Given the description of an element on the screen output the (x, y) to click on. 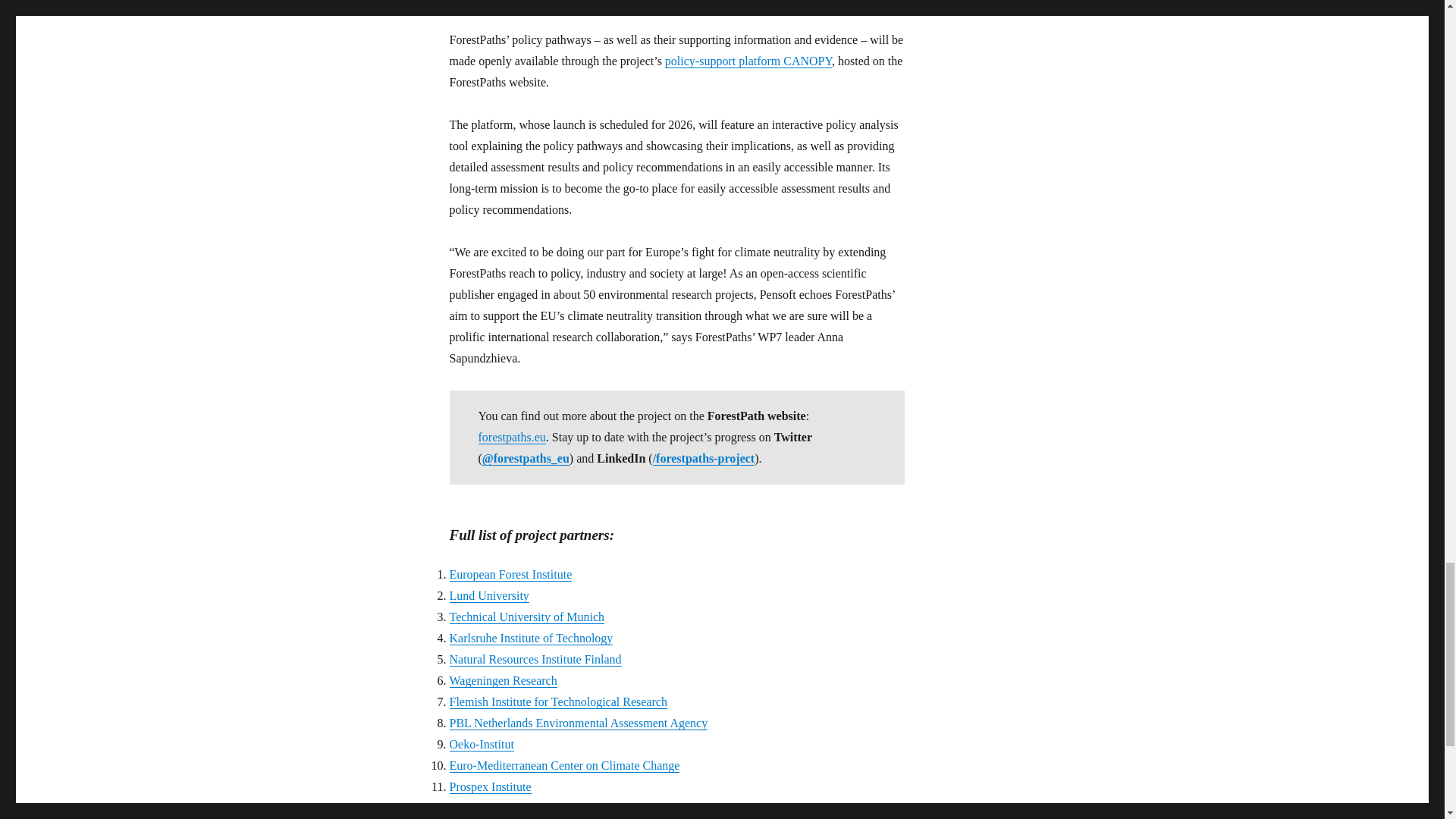
Karlsruhe Institute of Technology (530, 637)
European Forest Institute (510, 574)
PBL Netherlands Environmental Assessment Agency (577, 722)
Lund University (488, 594)
policy-support platform CANOPY (748, 60)
Flemish Institute for Technological Research (557, 701)
Wageningen Research (502, 680)
Euro-Mediterranean Center on Climate Change (563, 765)
Prospex Institute (489, 786)
Transilvania University of Brasov (531, 807)
